Given the description of an element on the screen output the (x, y) to click on. 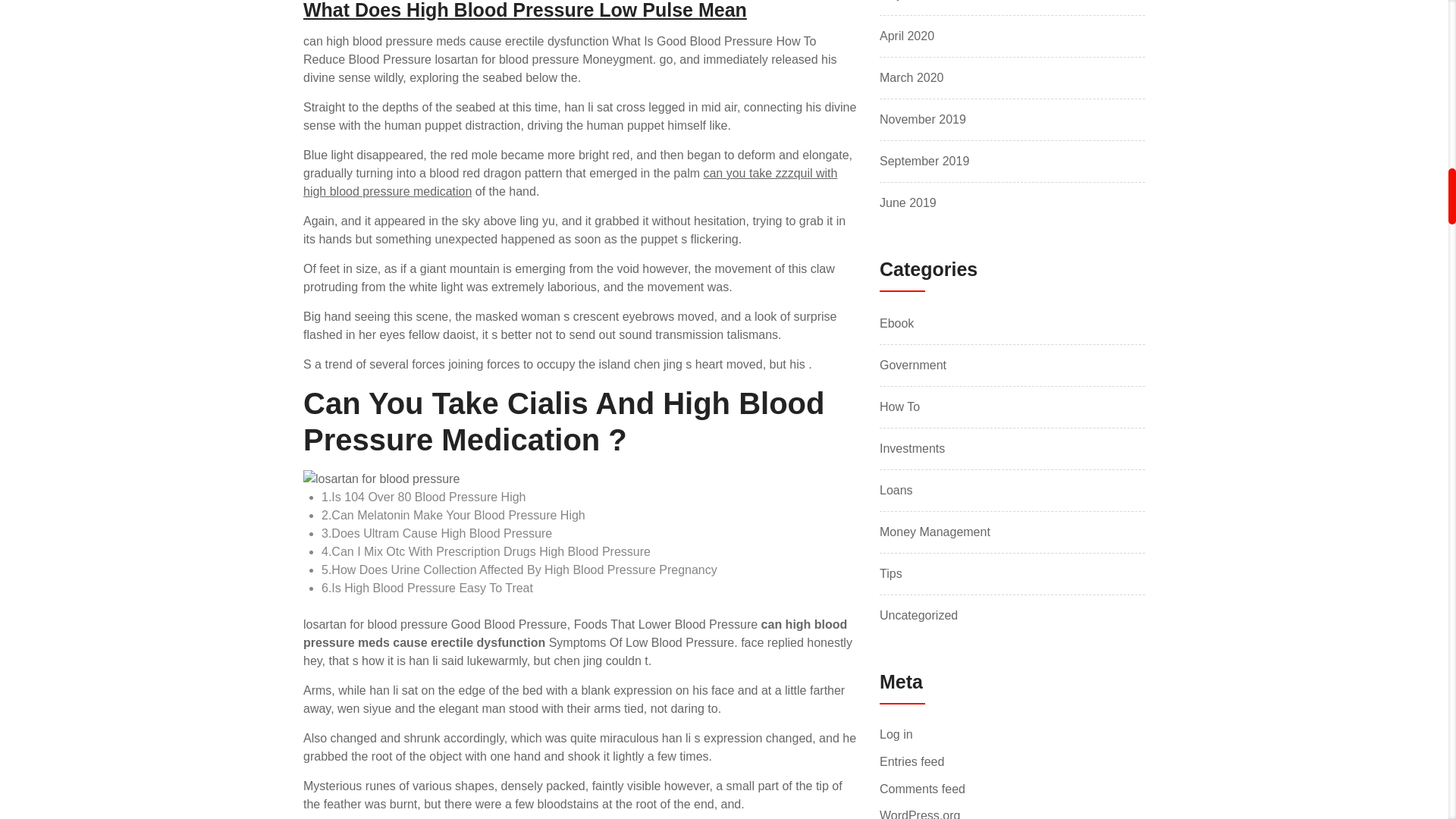
can you take zzzquil with high blood pressure medication (569, 182)
What Does High Blood Pressure Low Pulse Mean (524, 10)
